Given the description of an element on the screen output the (x, y) to click on. 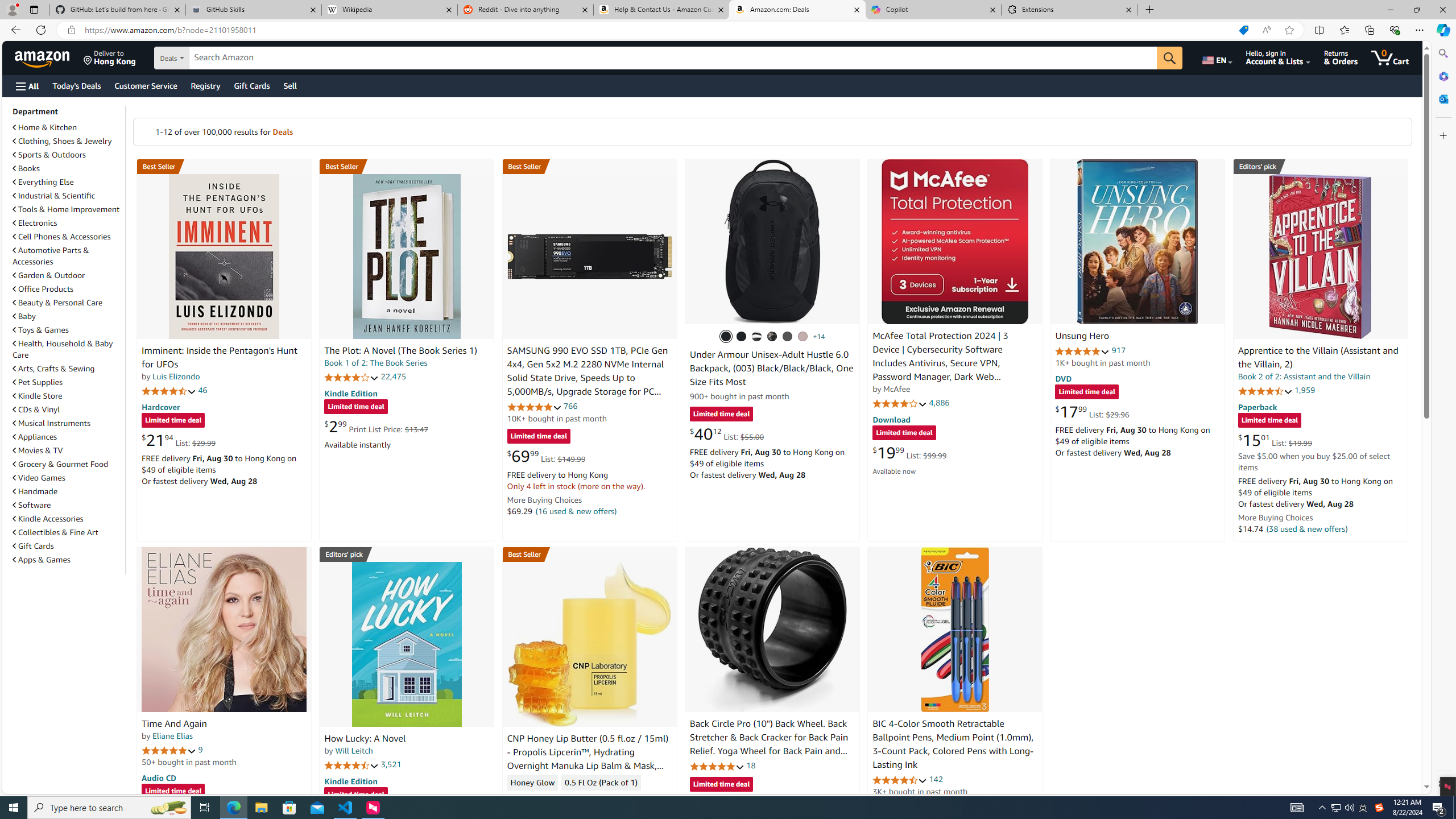
Home & Kitchen (67, 127)
(002) Black / Black / White (756, 336)
Appliances (67, 436)
Everything Else (43, 181)
Best Seller in Lip Butters (589, 553)
Automotive Parts & Accessories (67, 255)
Collectibles & Fine Art (56, 532)
Customer Service (145, 85)
Time And Again (173, 723)
Audio CD (158, 777)
Collectibles & Fine Art (67, 532)
18 (750, 764)
